Given the description of an element on the screen output the (x, y) to click on. 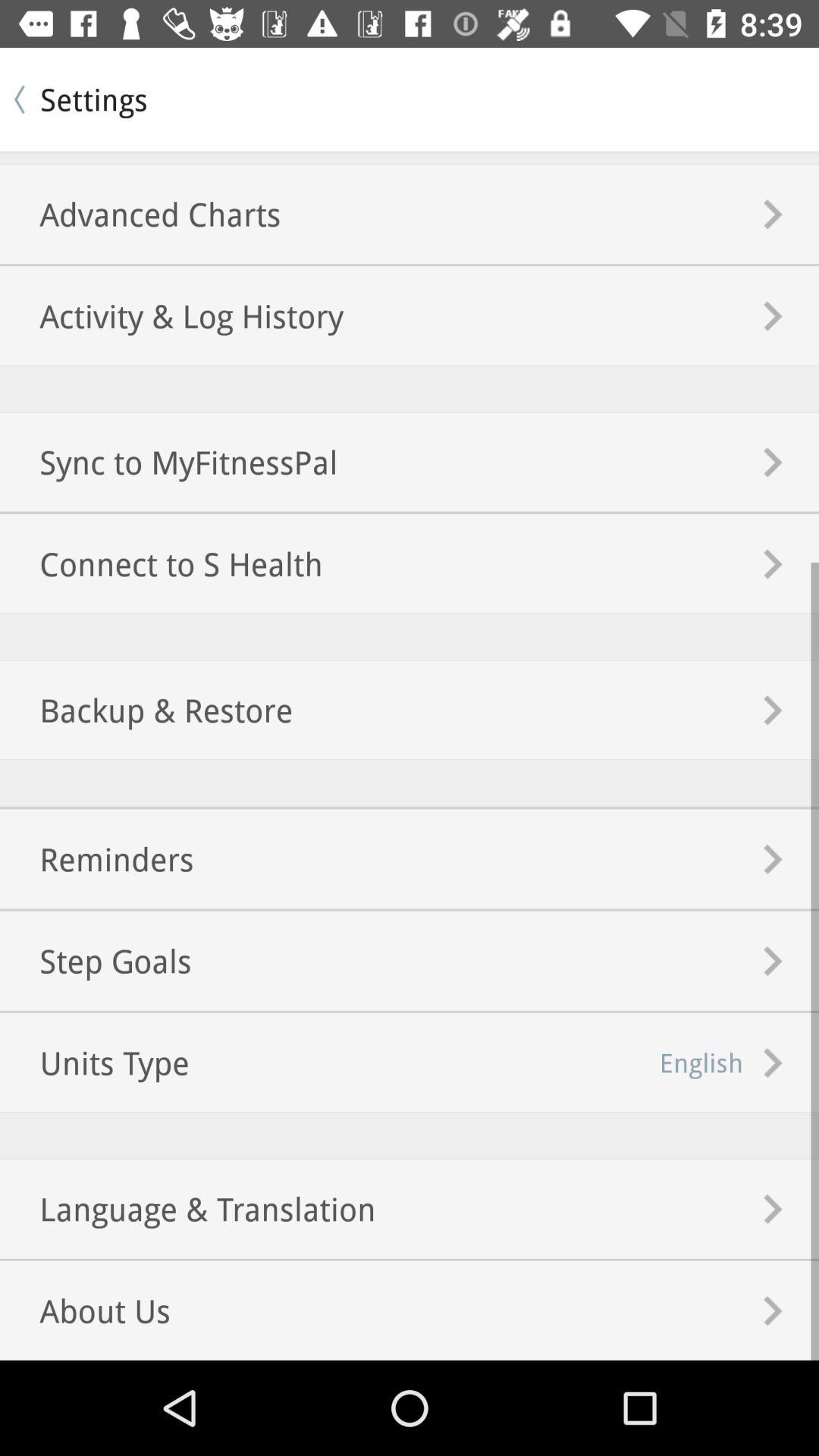
flip to units type item (94, 1062)
